Given the description of an element on the screen output the (x, y) to click on. 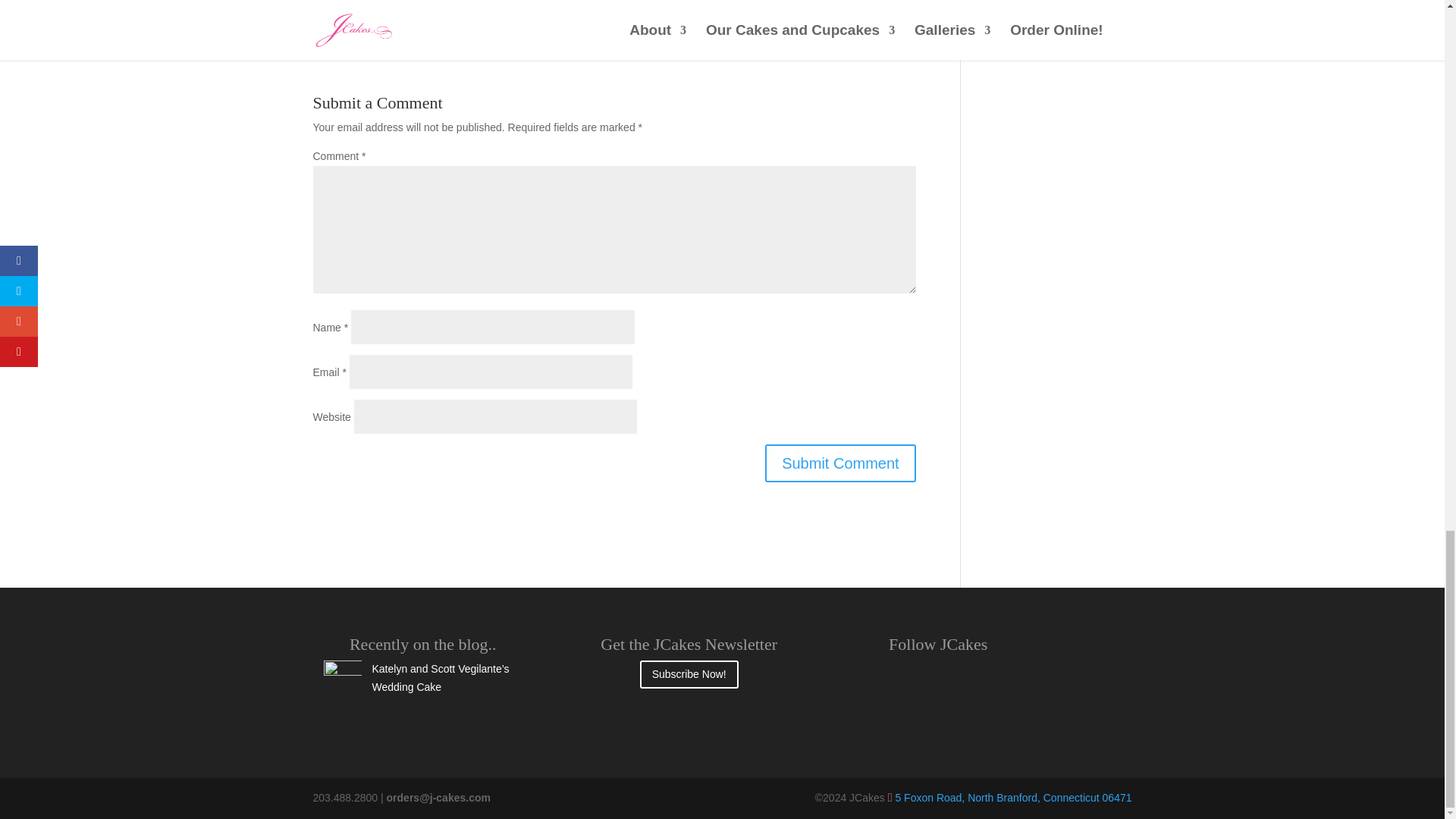
Submit Comment (840, 463)
Submit Comment (840, 463)
Subscribe Now! (689, 673)
